Given the description of an element on the screen output the (x, y) to click on. 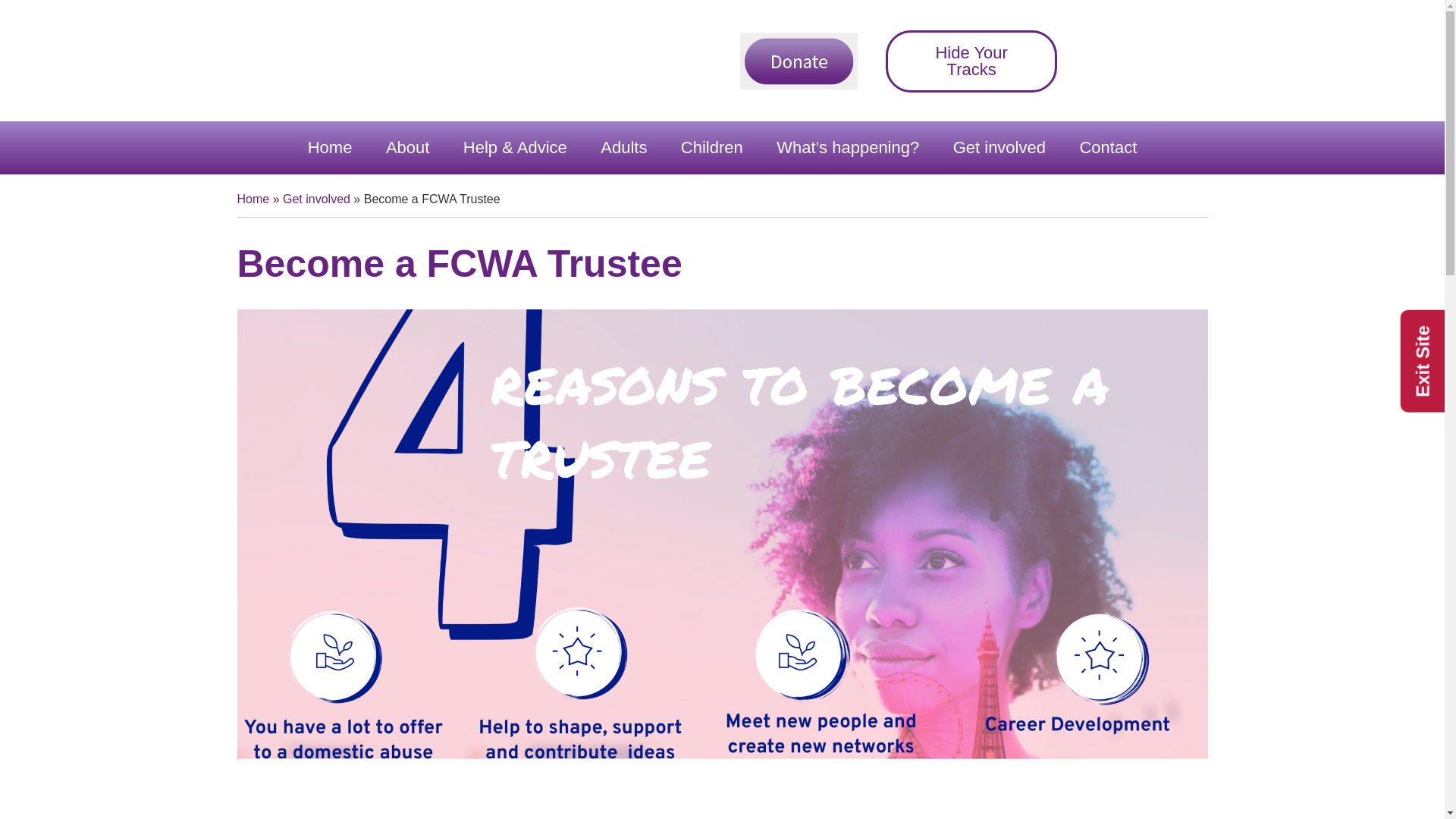
Search (1172, 60)
About (408, 147)
Home (330, 147)
Search (1172, 60)
Adults (623, 147)
Hide Your Tracks (971, 61)
Children (711, 147)
Fylde Coast Women's Aid - FCWA (349, 60)
Search (1172, 60)
